Given the description of an element on the screen output the (x, y) to click on. 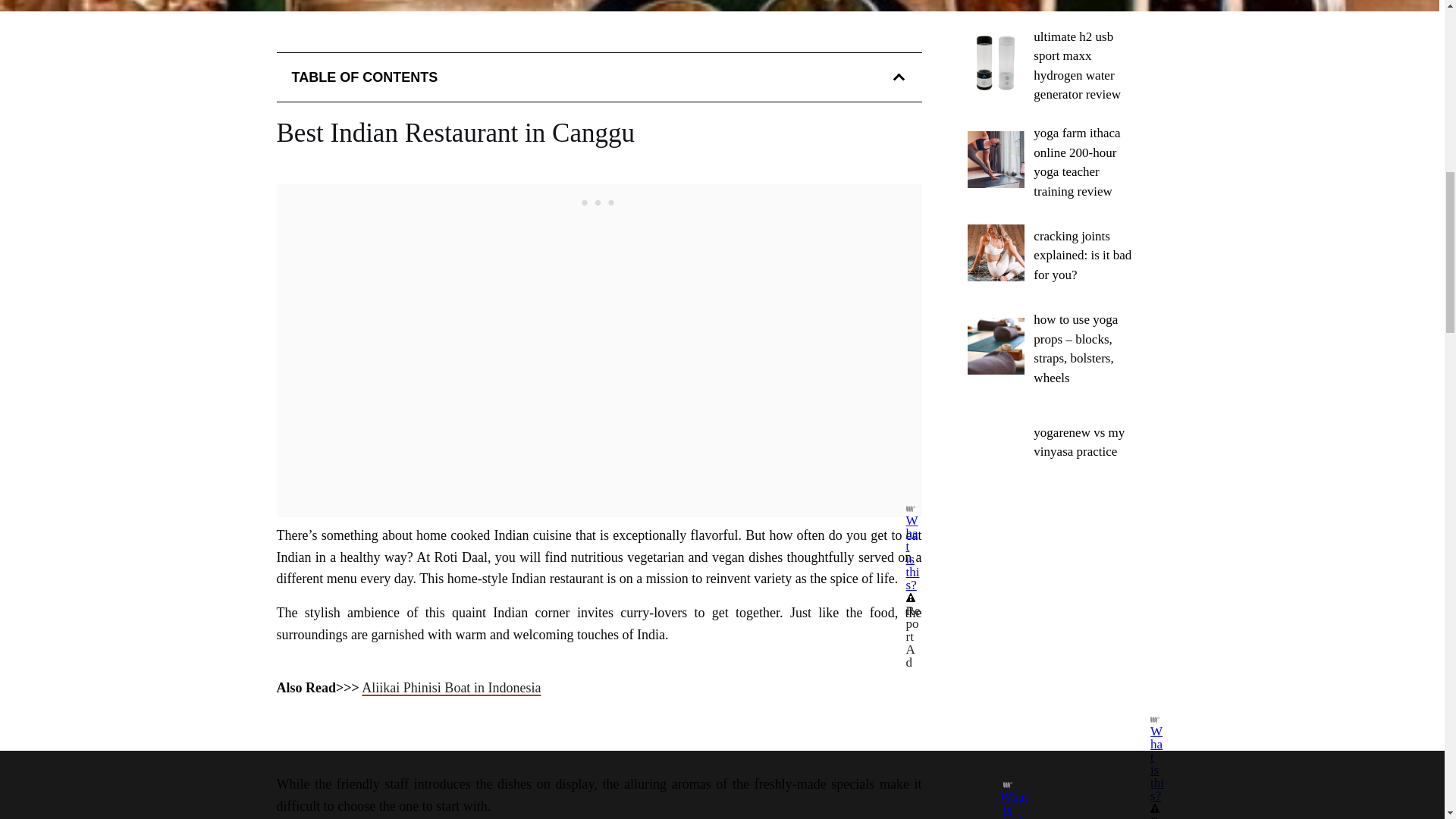
Scroll back to top (1406, 652)
3rd party ad content (598, 202)
3rd party ad content (1052, 616)
